Given the description of an element on the screen output the (x, y) to click on. 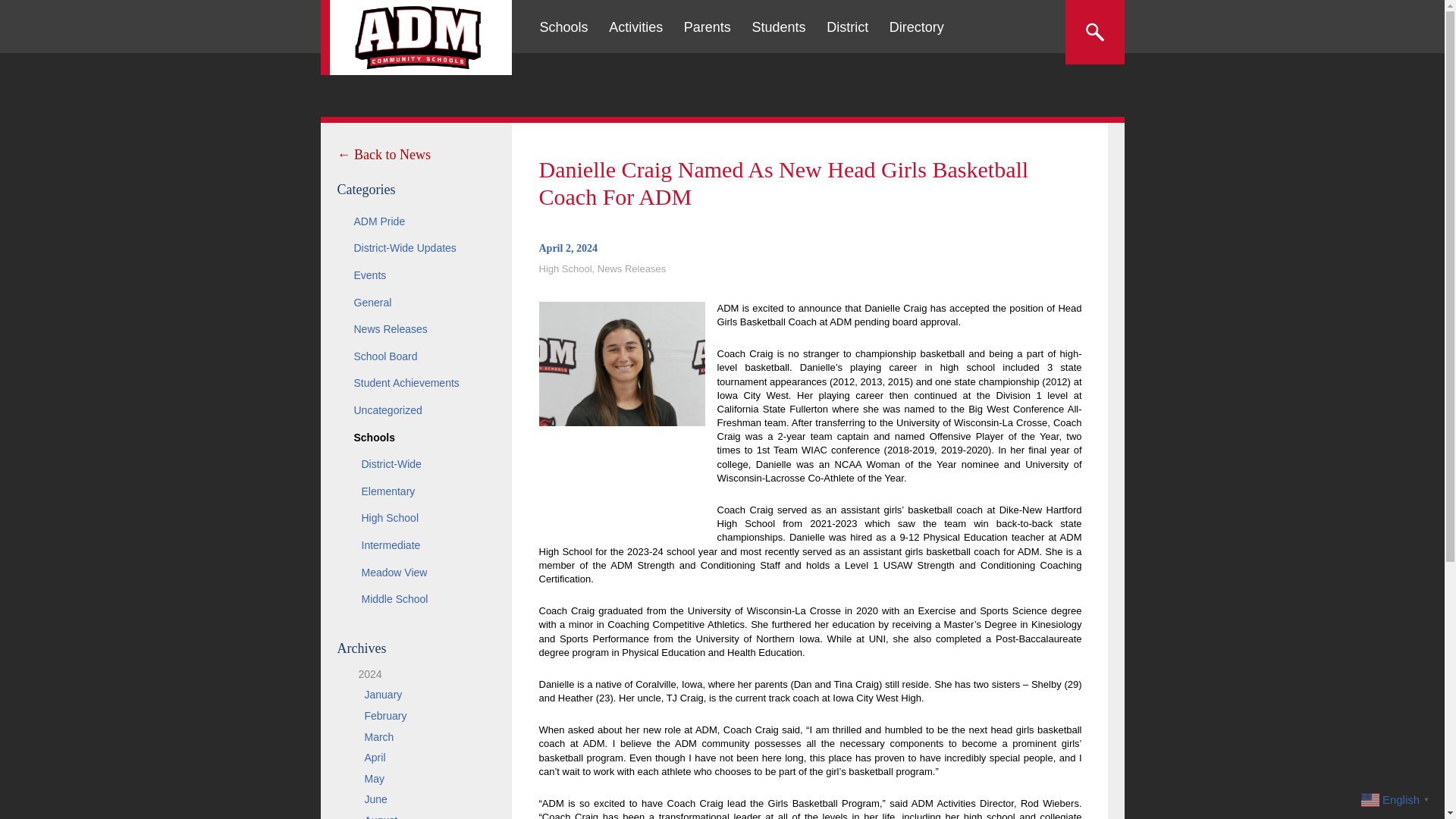
Search the site (1094, 32)
Students (778, 27)
January (382, 694)
District-Wide (415, 464)
2024 (363, 674)
Events (415, 275)
Activities (635, 27)
Middle School (415, 599)
Archives for 2024 (363, 674)
Student Achievements (415, 383)
